Given the description of an element on the screen output the (x, y) to click on. 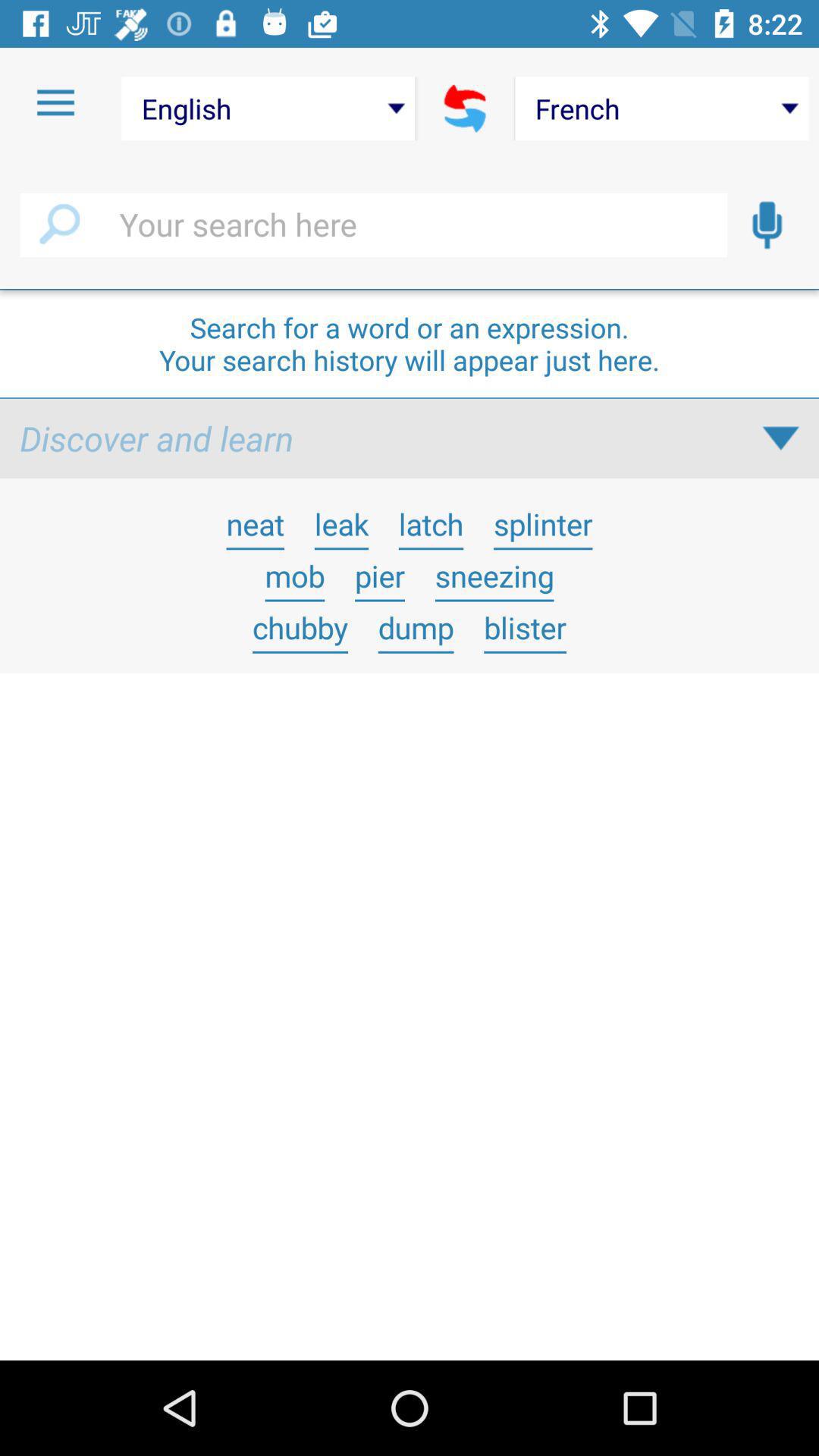
press icon below search for a icon (156, 438)
